Given the description of an element on the screen output the (x, y) to click on. 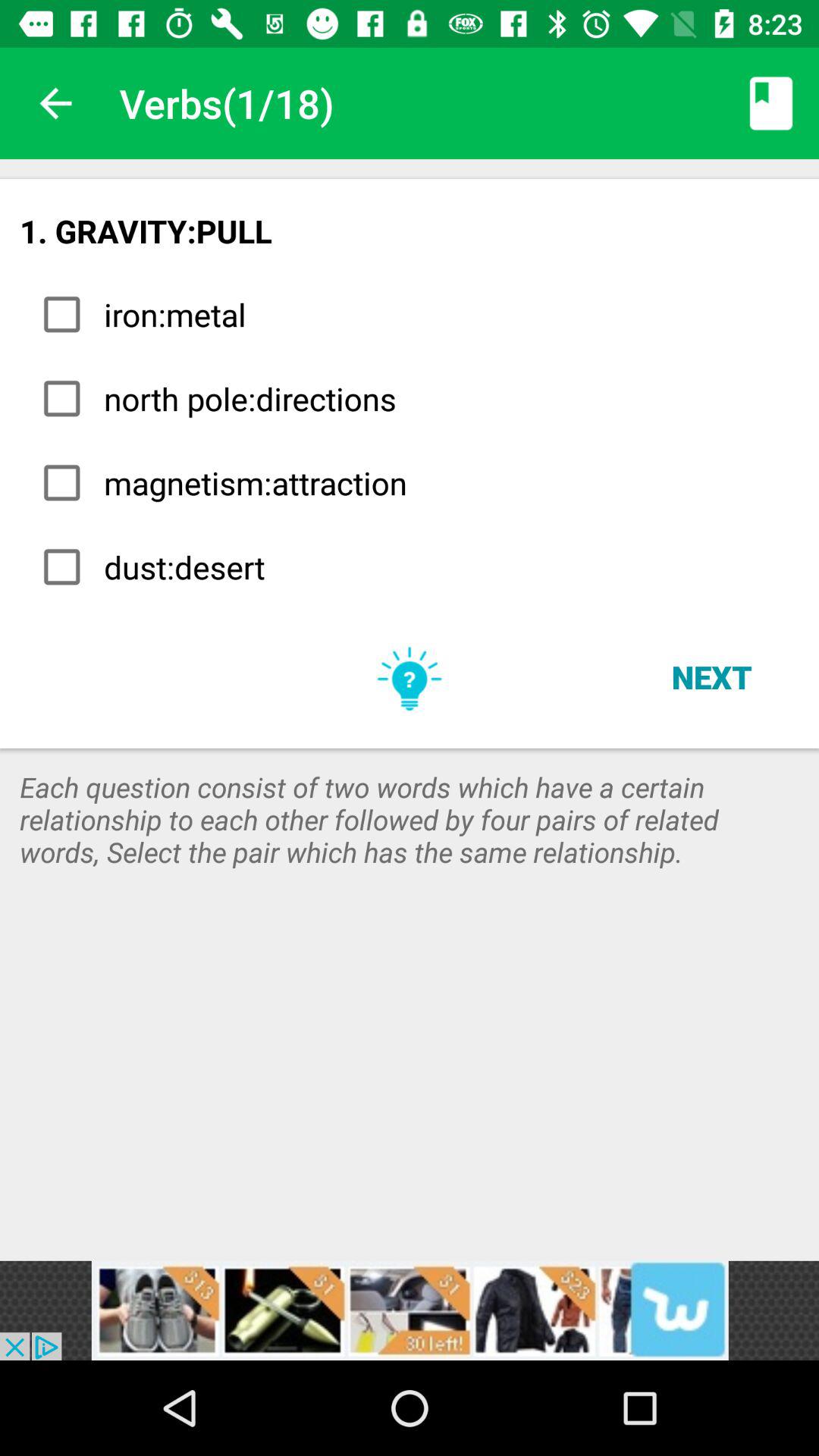
notifications (409, 1310)
